Given the description of an element on the screen output the (x, y) to click on. 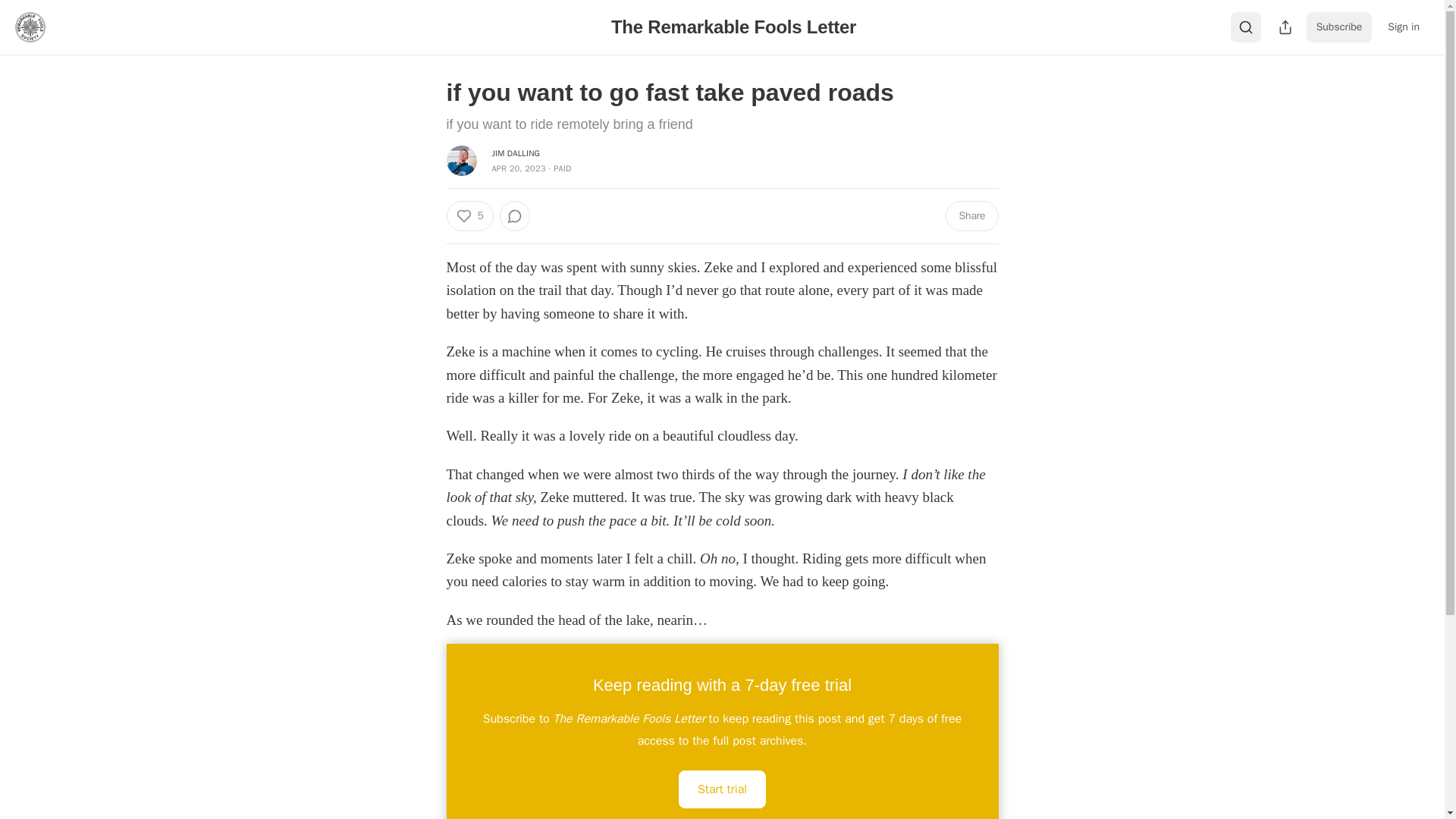
JIM DALLING (516, 153)
Sign in (1403, 27)
Subscribe (1339, 27)
The Remarkable Fools Letter (733, 26)
Start trial (721, 788)
5 (469, 215)
Start trial (721, 789)
Share (970, 215)
